Given the description of an element on the screen output the (x, y) to click on. 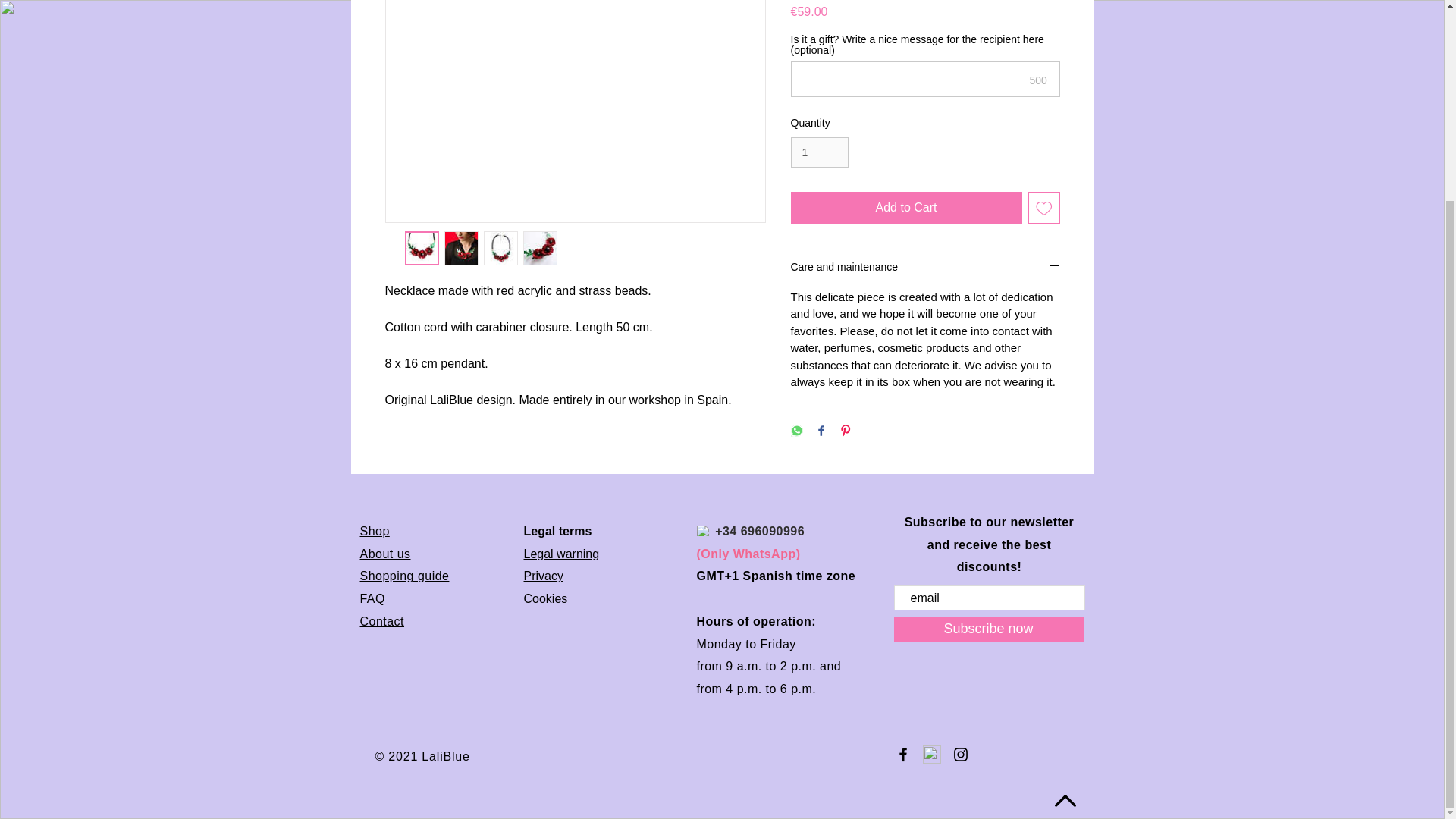
Contact (381, 621)
Care and maintenance (924, 268)
Privacy (542, 575)
FAQ (371, 598)
Cookies (544, 598)
Subscribe now (988, 628)
About us (384, 553)
Legal warning (560, 553)
Add to Cart (906, 207)
1 (818, 152)
